Given the description of an element on the screen output the (x, y) to click on. 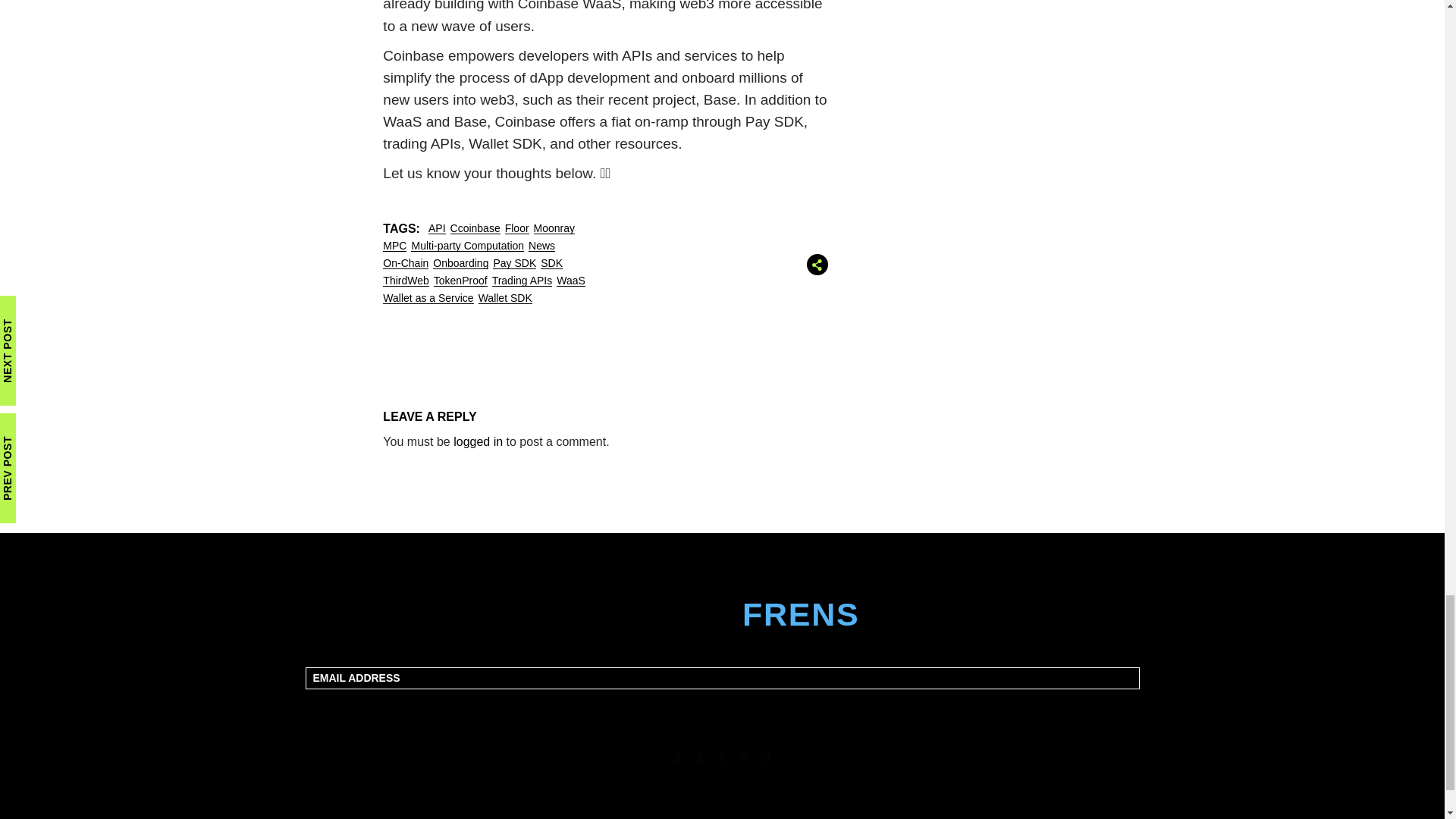
On-Chain (405, 263)
Floor (517, 228)
API (436, 228)
Multi-party Computation (467, 245)
Onboarding (459, 263)
SUBSCRIBE (722, 707)
News (541, 245)
Ccoinbase (474, 228)
Moonray (554, 228)
MPC (394, 245)
